Given the description of an element on the screen output the (x, y) to click on. 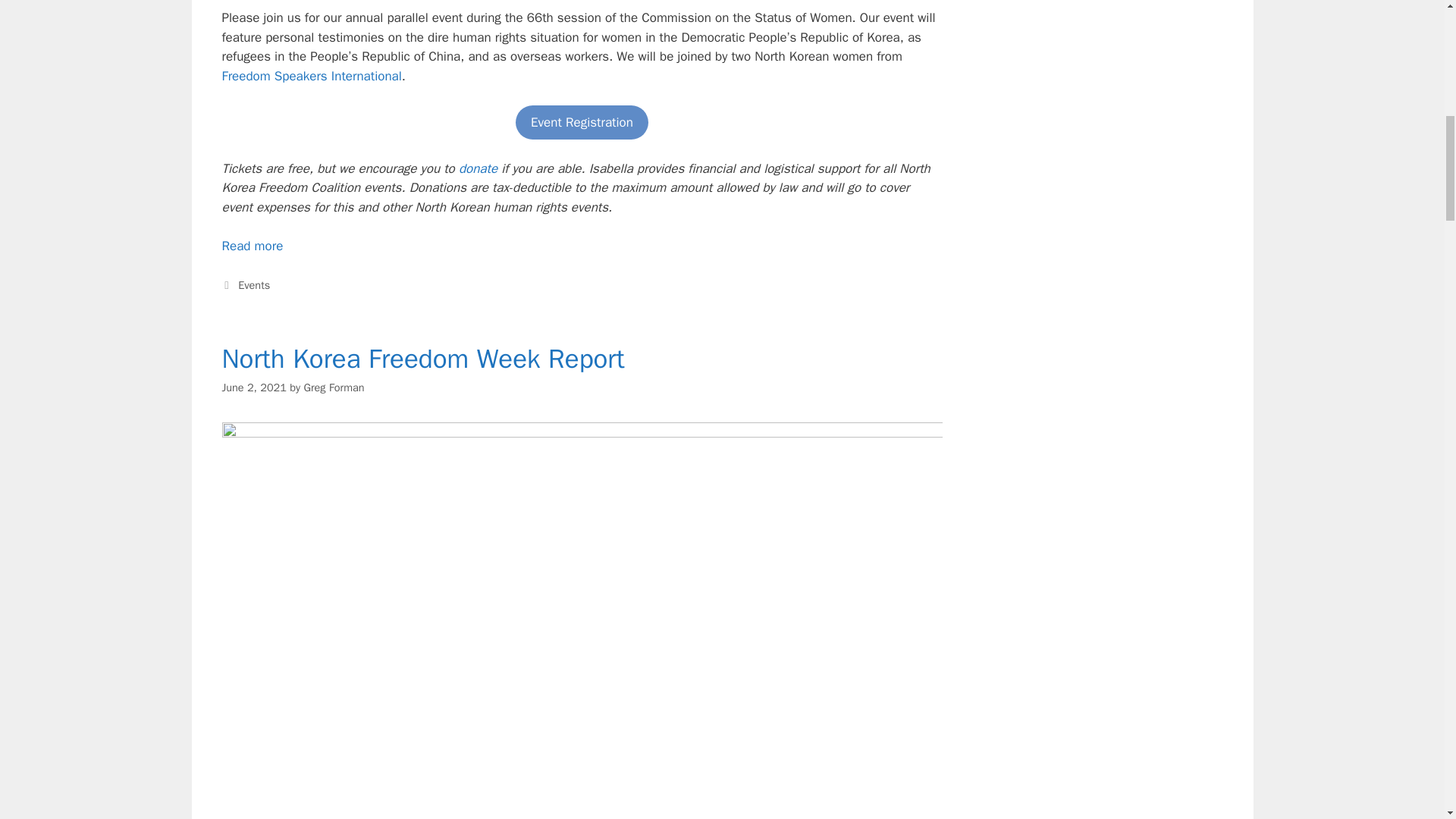
Events (253, 284)
North Korea Freedom Week Report (422, 358)
Event Registration (581, 122)
donate (477, 168)
Freedom Speakers International (311, 75)
Read more (251, 245)
Greg Forman (333, 386)
View all posts by Greg Forman (333, 386)
